Given the description of an element on the screen output the (x, y) to click on. 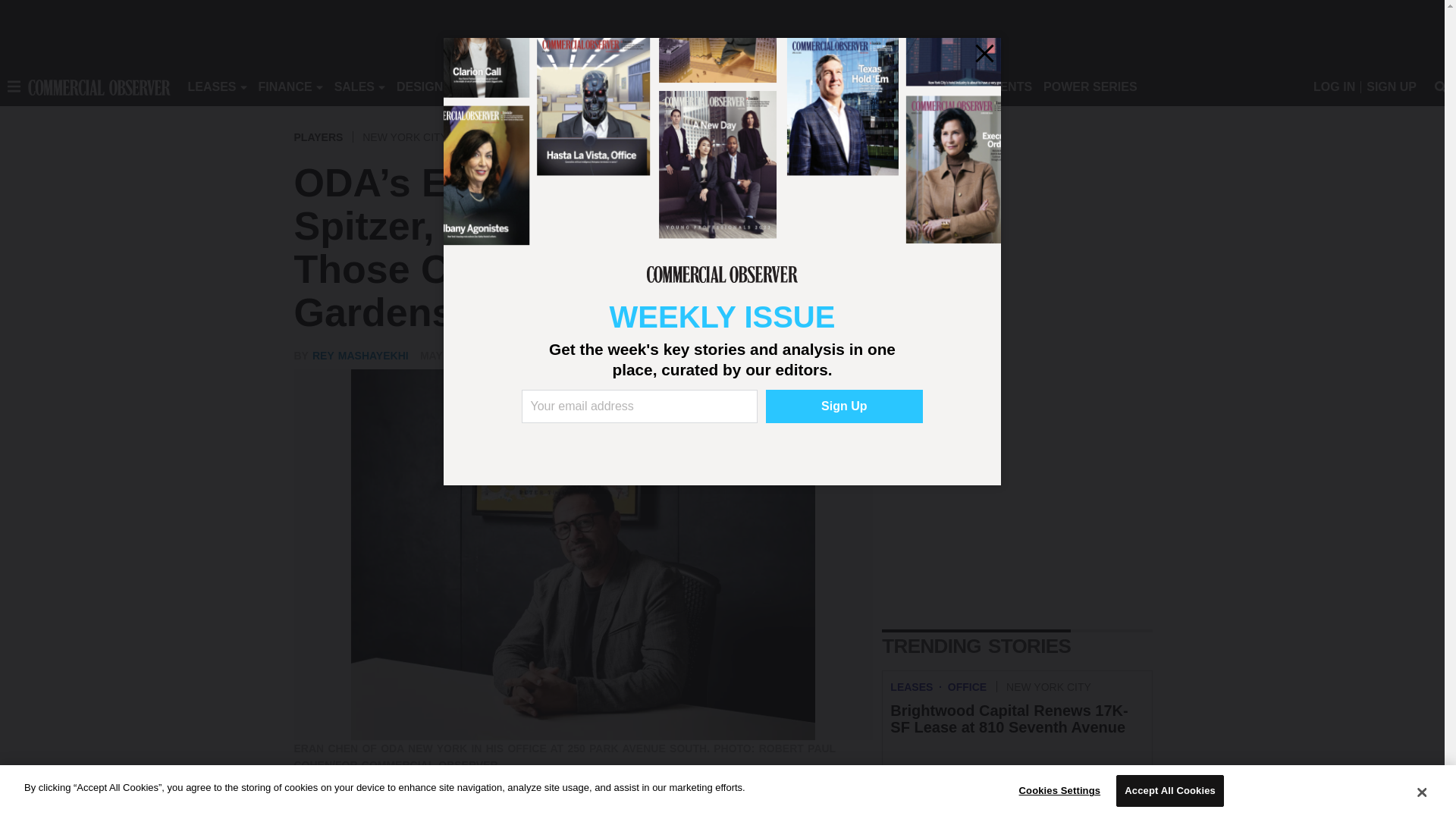
TECHNOLOGY (619, 86)
SALES (354, 86)
Posts by Rey Mashayekhi (361, 355)
Commercial Observer Home (98, 86)
Send email (398, 812)
Share on Facebook (307, 812)
MORE (691, 86)
LEASES (211, 86)
Share on LinkedIn (368, 812)
FINANCE (286, 86)
Tweet (338, 812)
